Given the description of an element on the screen output the (x, y) to click on. 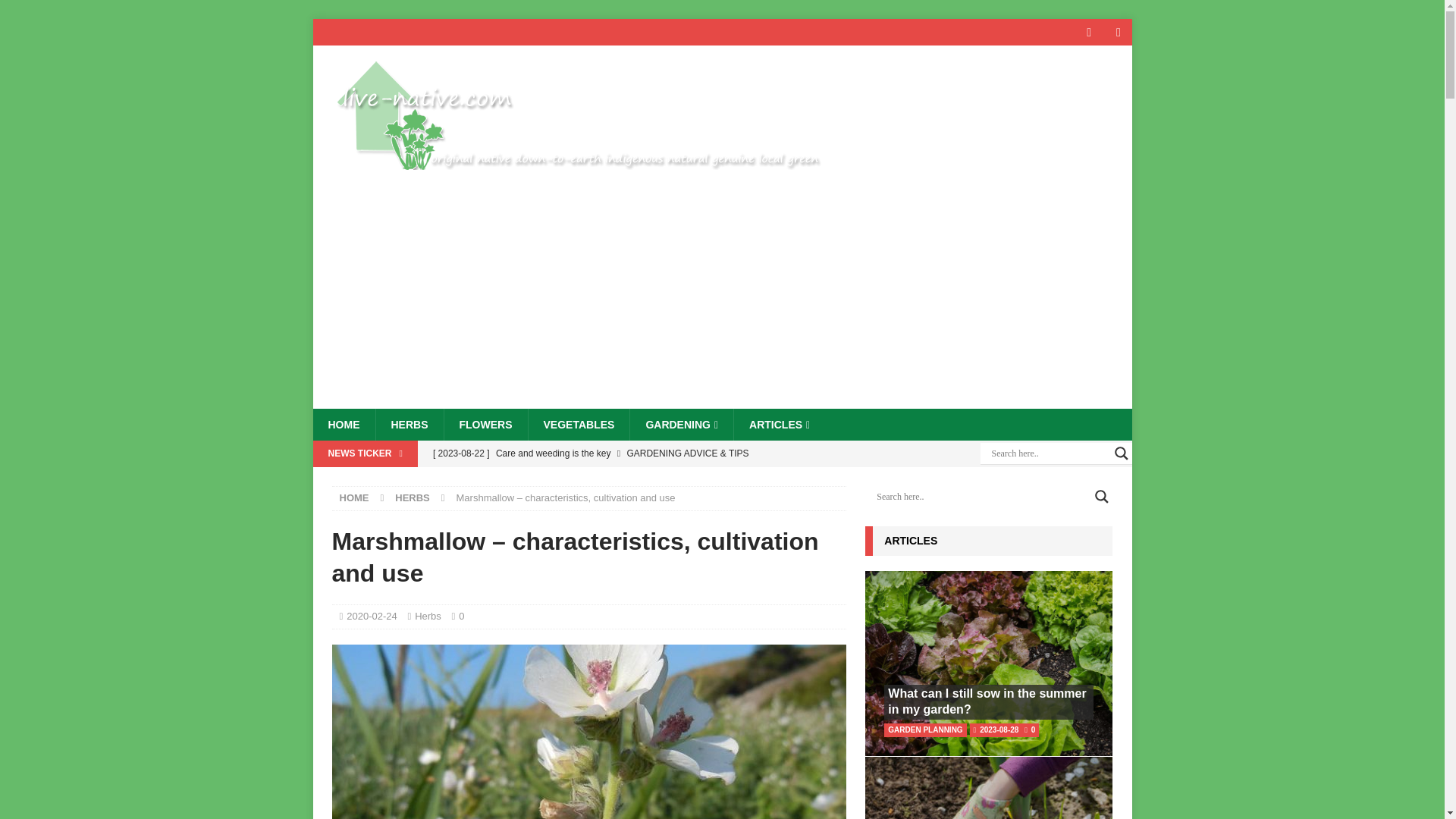
Marshmallow (588, 731)
Care and weeding is the key (634, 453)
FLOWERS (485, 424)
Herbs (427, 615)
ARTICLES (779, 424)
2020-02-24 (371, 615)
HOME (343, 424)
HERBS (411, 497)
VEGETABLES (578, 424)
HOME (354, 497)
